Given the description of an element on the screen output the (x, y) to click on. 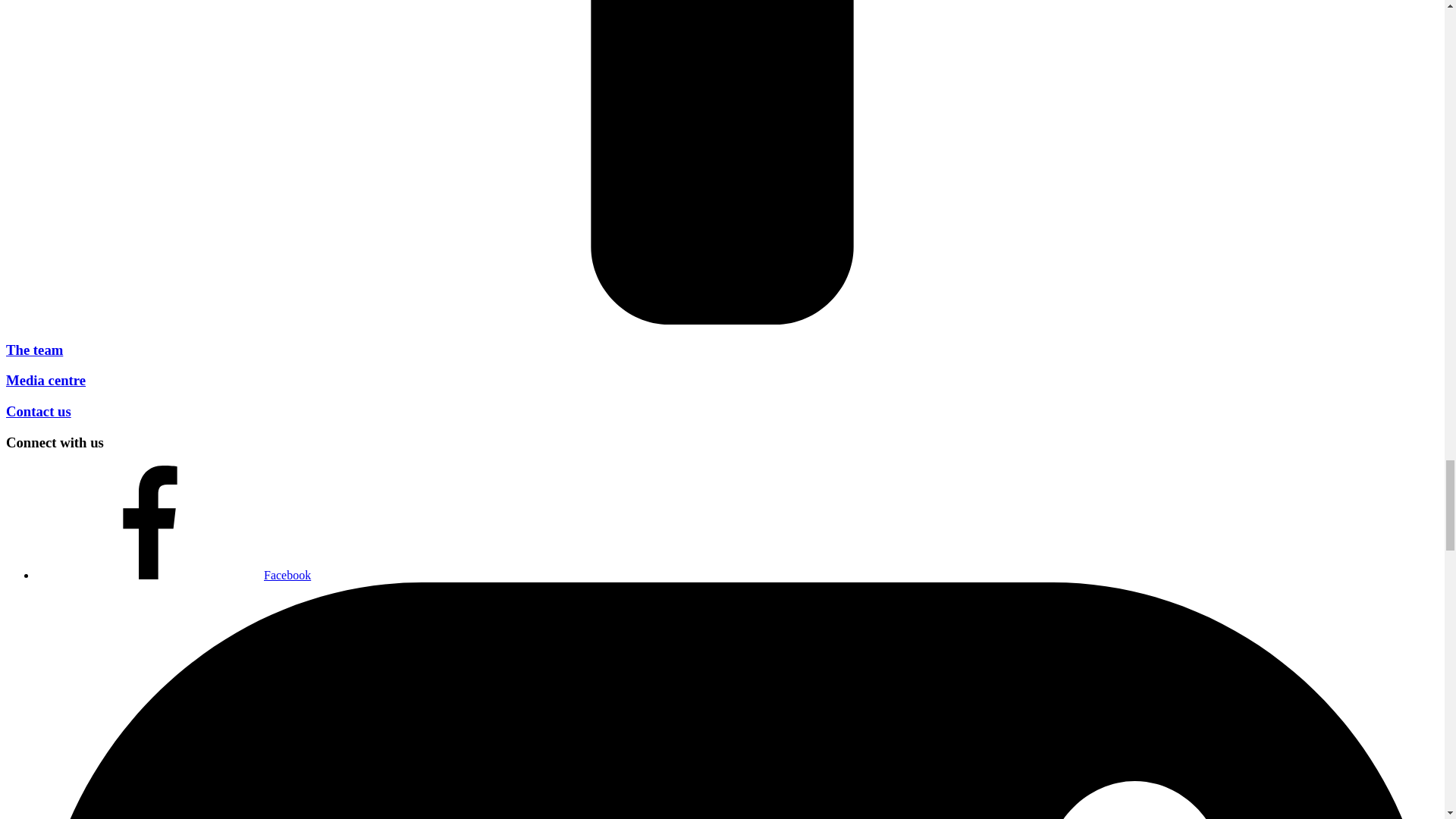
The team (33, 349)
Media centre (45, 380)
Contact us (38, 411)
Facebook (173, 574)
